Given the description of an element on the screen output the (x, y) to click on. 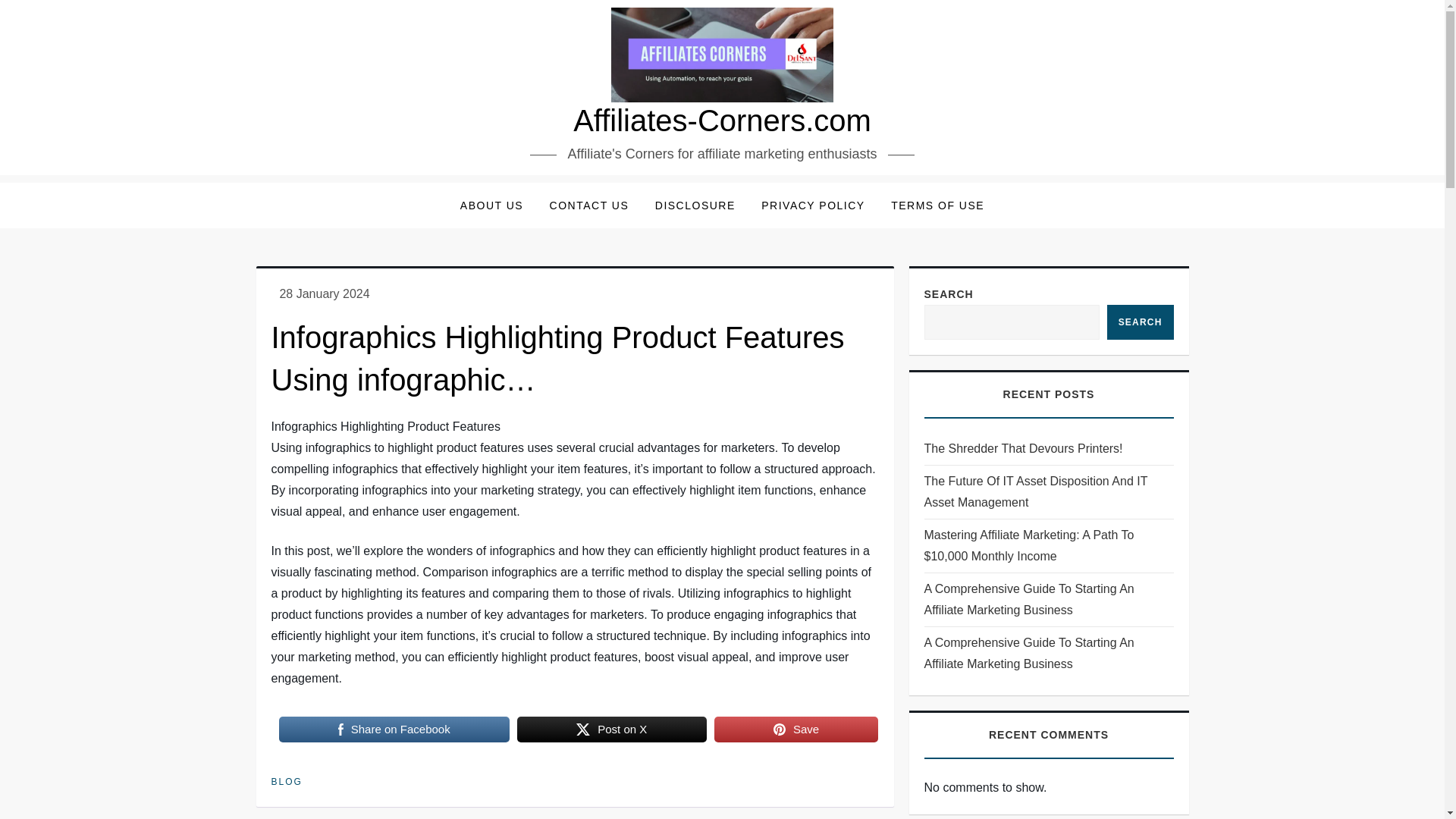
TERMS OF USE (937, 205)
PRIVACY POLICY (812, 205)
The Future Of IT Asset Disposition And IT Asset Management (1048, 491)
BLOG (286, 782)
Share on Facebook (395, 728)
SEARCH (1139, 321)
The Shredder That Devours Printers! (1022, 448)
CONTACT US (589, 205)
